Given the description of an element on the screen output the (x, y) to click on. 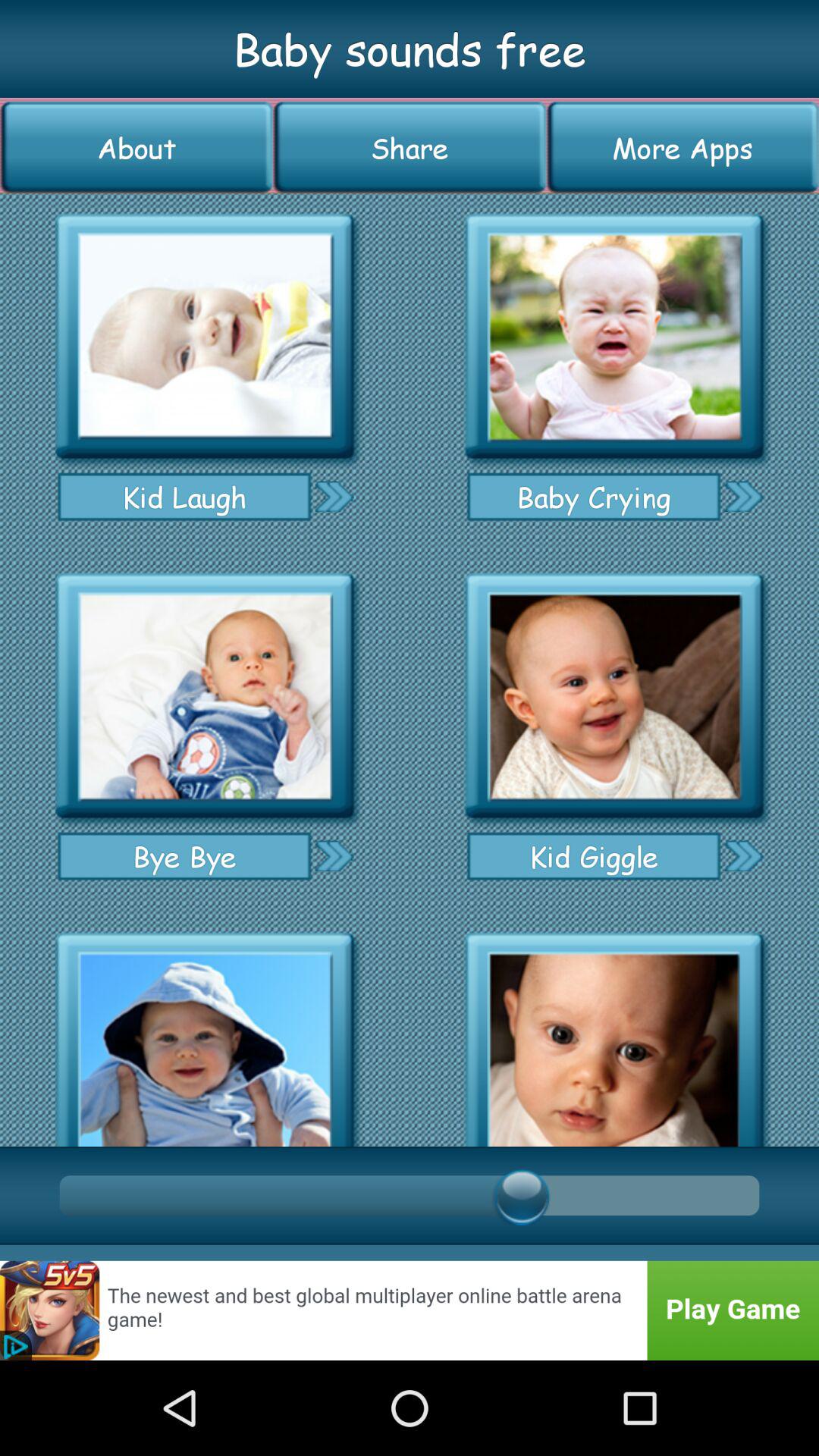
select kid laugh (204, 336)
